Given the description of an element on the screen output the (x, y) to click on. 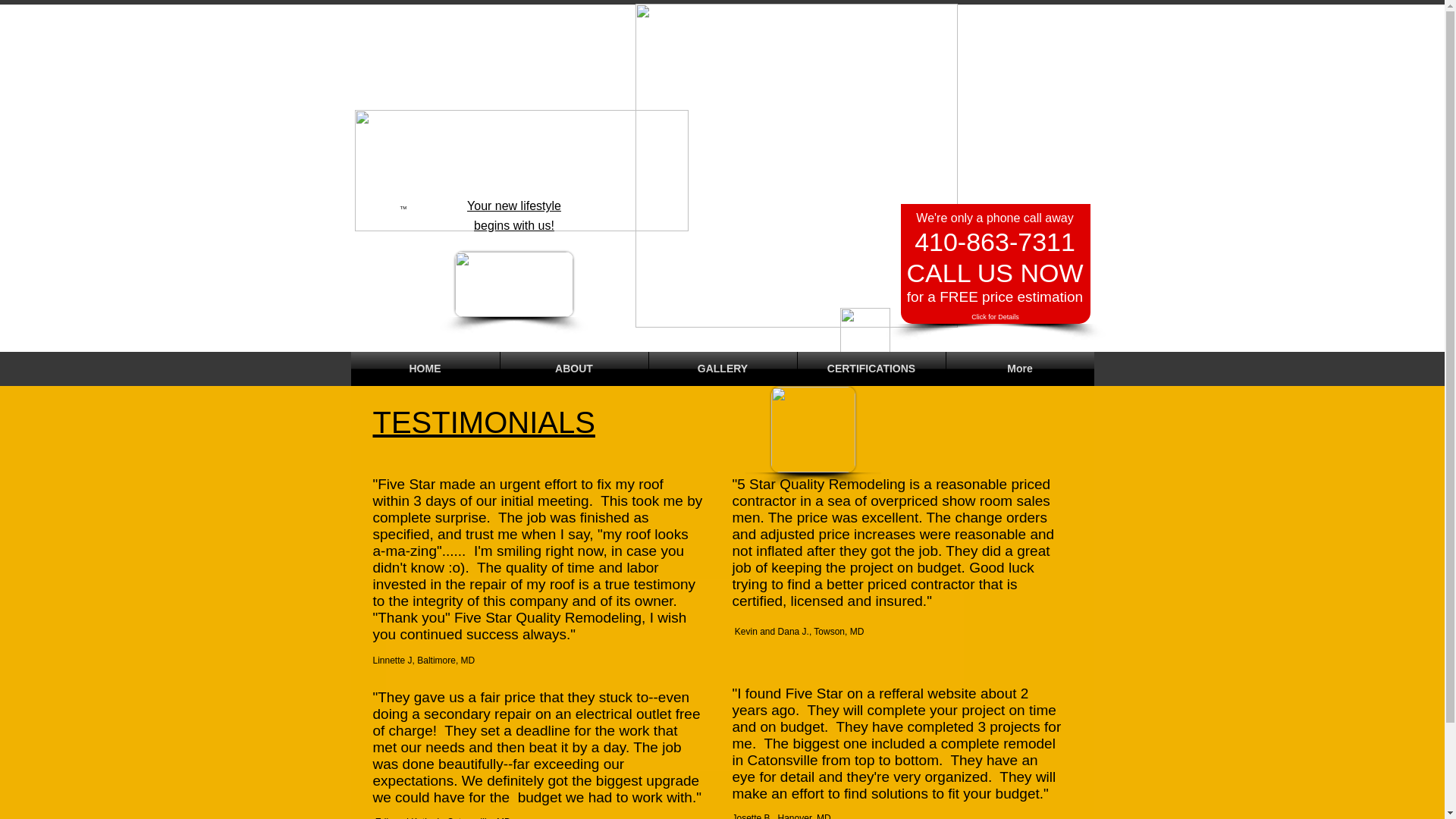
ABOUT (573, 368)
Click for Details (995, 317)
Copyright Trademark.gif (521, 169)
CERTIFICATIONS (870, 368)
Masterpiece Entry (796, 165)
HOME (424, 368)
GALLERY (722, 368)
images.jpg (513, 283)
